Given the description of an element on the screen output the (x, y) to click on. 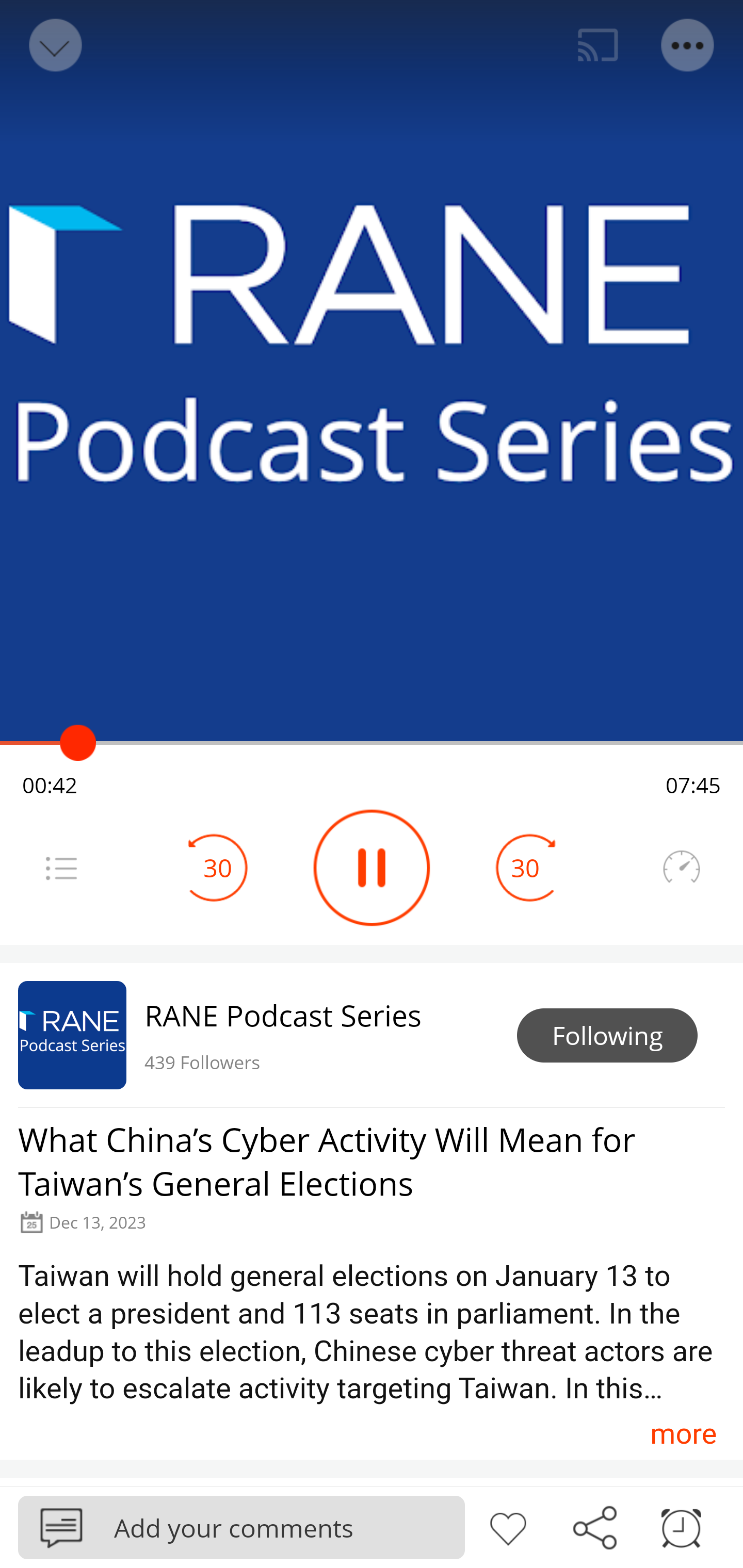
Back (53, 45)
Cast. Disconnected (597, 45)
Menu (688, 45)
Play (371, 867)
30 Seek Backward (217, 867)
30 Seek Forward (525, 867)
Menu (60, 867)
Speedometer (681, 867)
RANE Podcast Series 439 Followers Following (371, 1034)
Following (607, 1035)
more (682, 1432)
Like (508, 1526)
Share (594, 1526)
Sleep timer (681, 1526)
Podbean Add your comments (241, 1526)
